Given the description of an element on the screen output the (x, y) to click on. 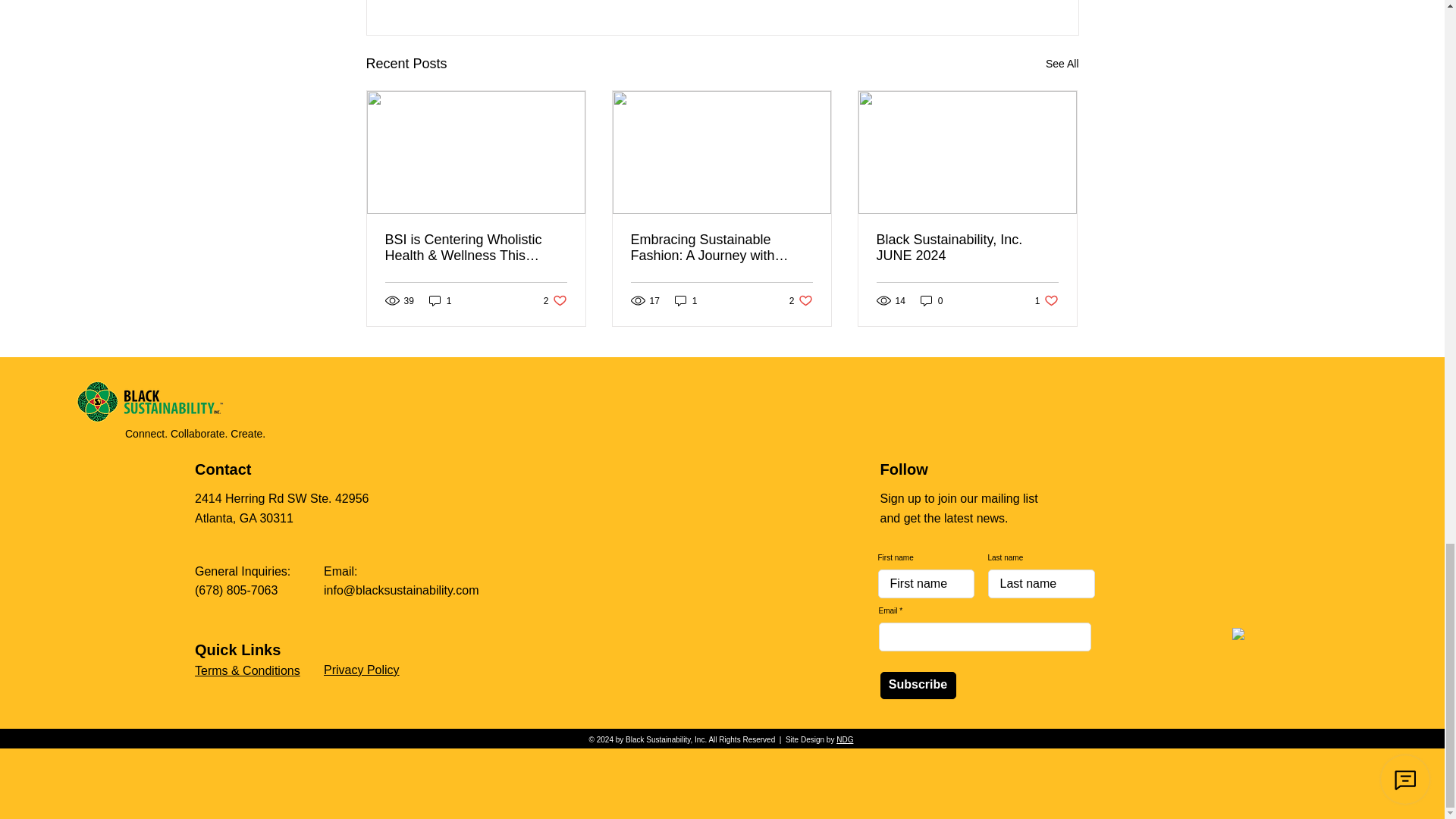
See All (1061, 64)
BSI Candid Seal (1312, 693)
